Given the description of an element on the screen output the (x, y) to click on. 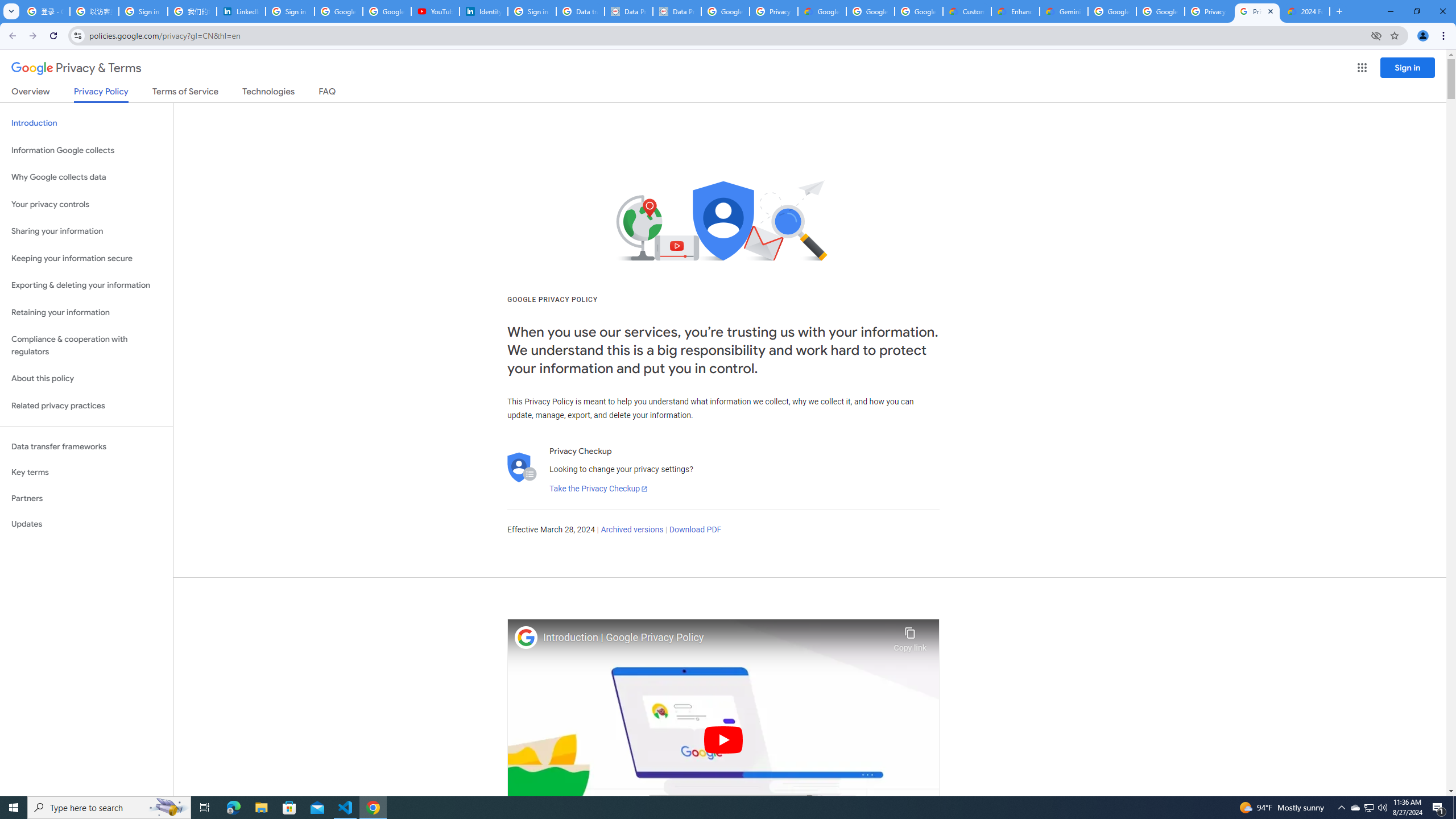
Keeping your information secure (86, 258)
LinkedIn Privacy Policy (240, 11)
Archived versions (631, 529)
Data Privacy Framework (676, 11)
Google Cloud Terms Directory | Google Cloud (822, 11)
Take the Privacy Checkup (597, 488)
Google Workspace - Specific Terms (918, 11)
